Given the description of an element on the screen output the (x, y) to click on. 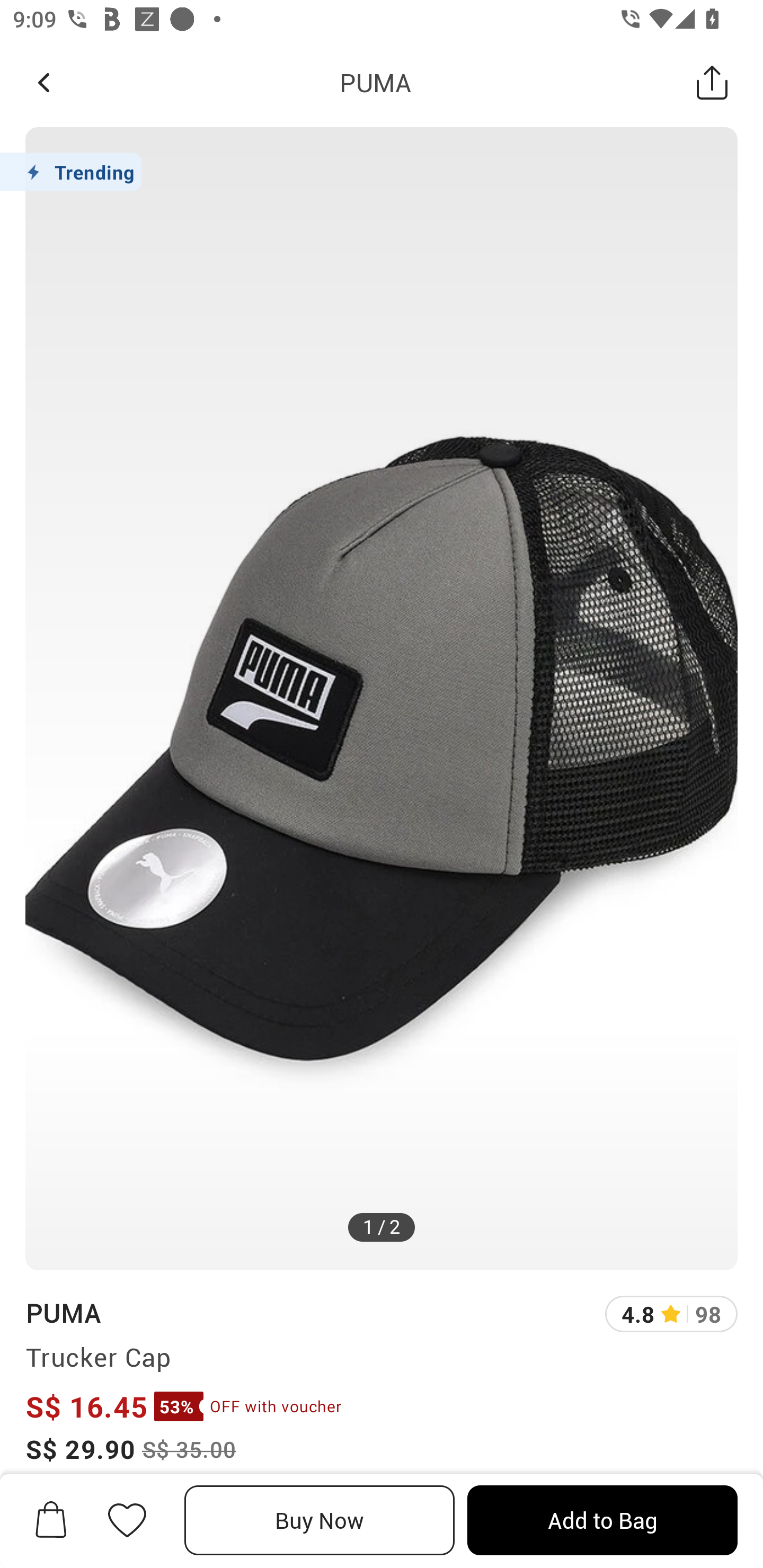
PUMA (375, 82)
Share this Product (711, 82)
PUMA (62, 1312)
4.8 98 (671, 1313)
Buy Now (319, 1519)
Add to Bag (601, 1519)
